Given the description of an element on the screen output the (x, y) to click on. 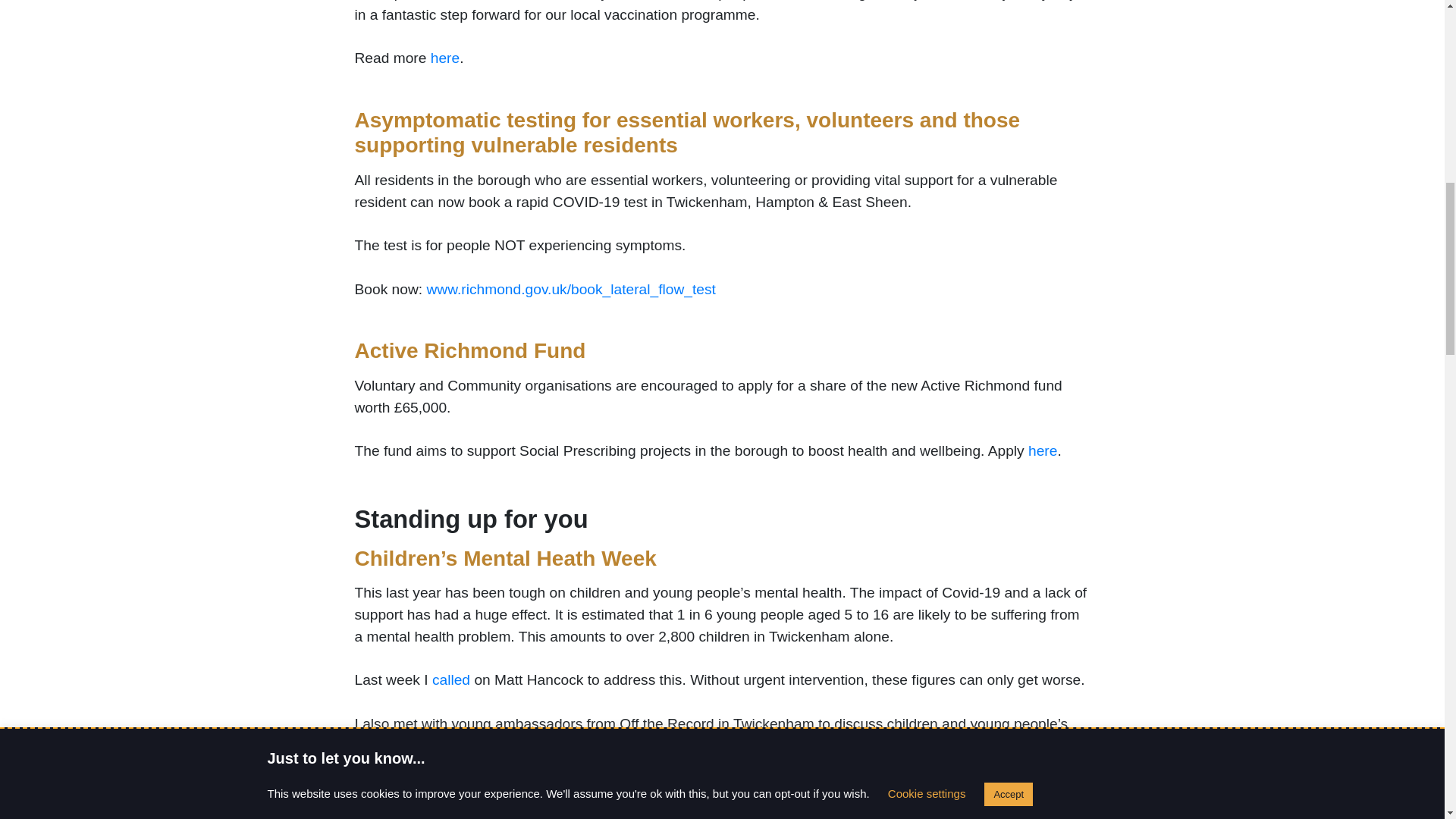
here (1049, 745)
called (451, 679)
here (1042, 450)
here (775, 788)
here (1037, 788)
here (445, 57)
